Given the description of an element on the screen output the (x, y) to click on. 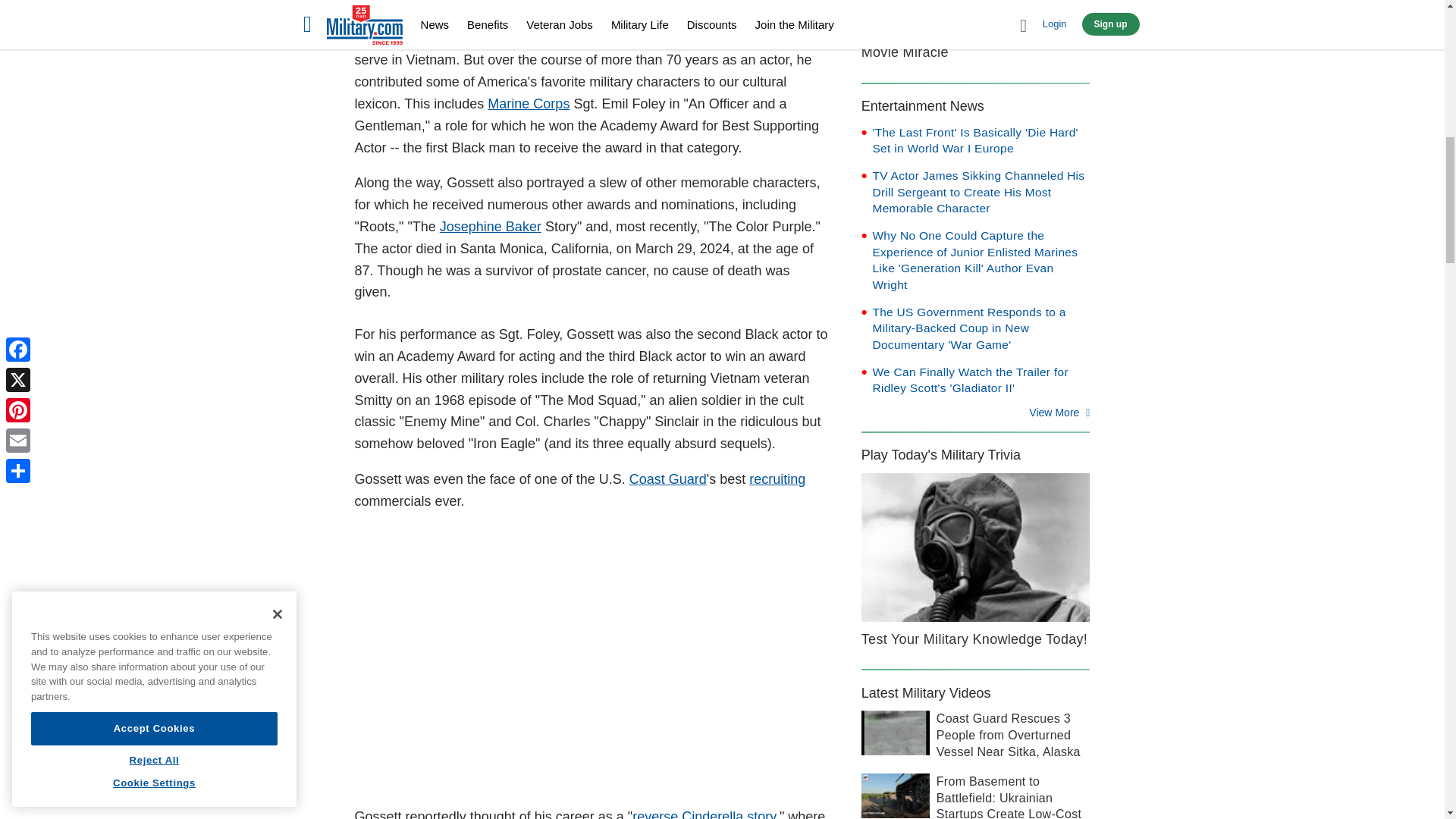
1990 The Coast Guard Commercial (591, 659)
